Given the description of an element on the screen output the (x, y) to click on. 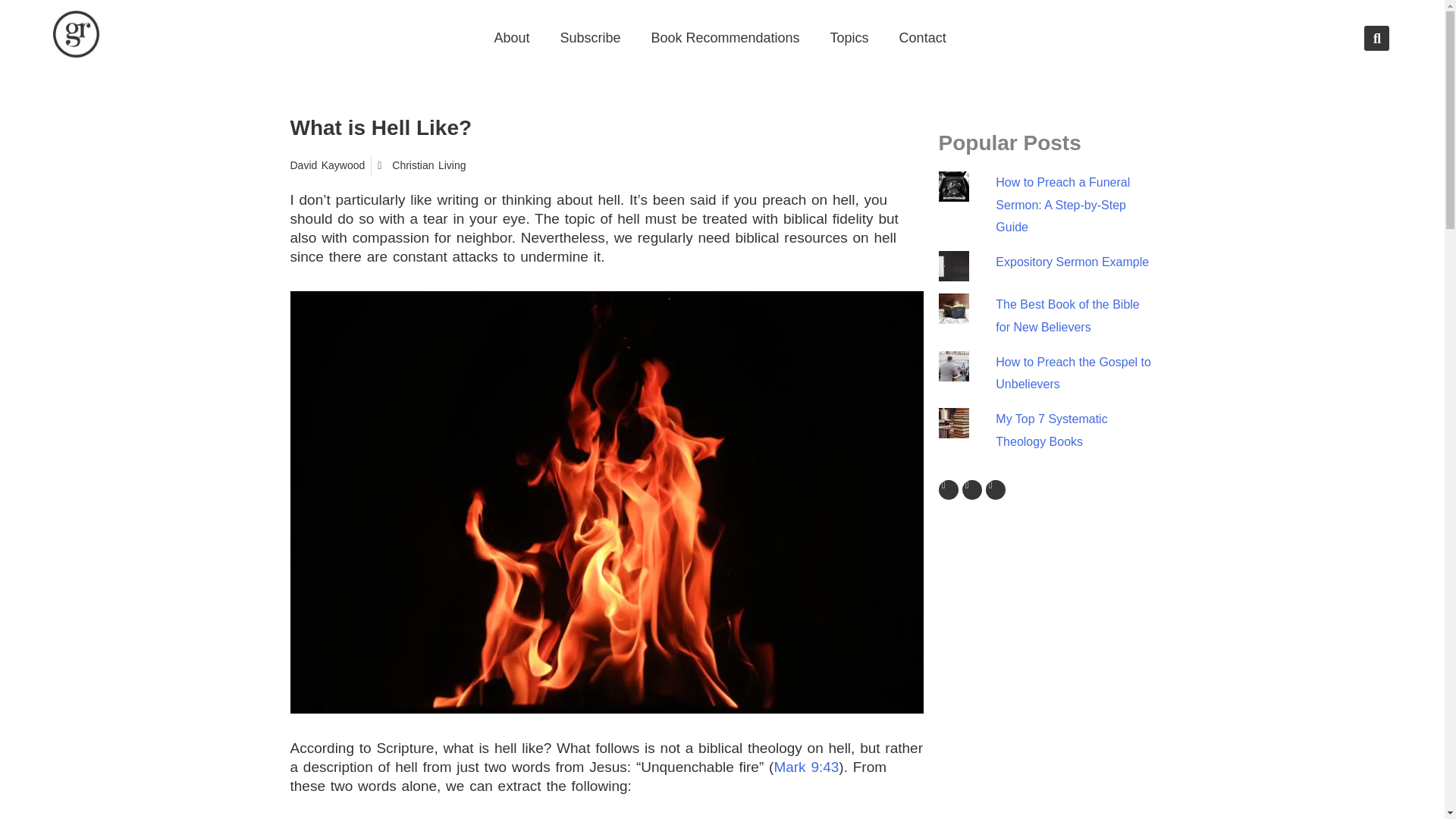
Subscribe (589, 37)
Contact (921, 37)
David Kaywood (327, 165)
How to Preach a Funeral Sermon: A Step-by-Step Guide (1062, 204)
Christian Living (428, 164)
What is Hell Like? (380, 127)
The Best Book of the Bible for New Believers (1066, 315)
Book Recommendations (723, 37)
Mark 9:43 (805, 766)
About (511, 37)
